Given the description of an element on the screen output the (x, y) to click on. 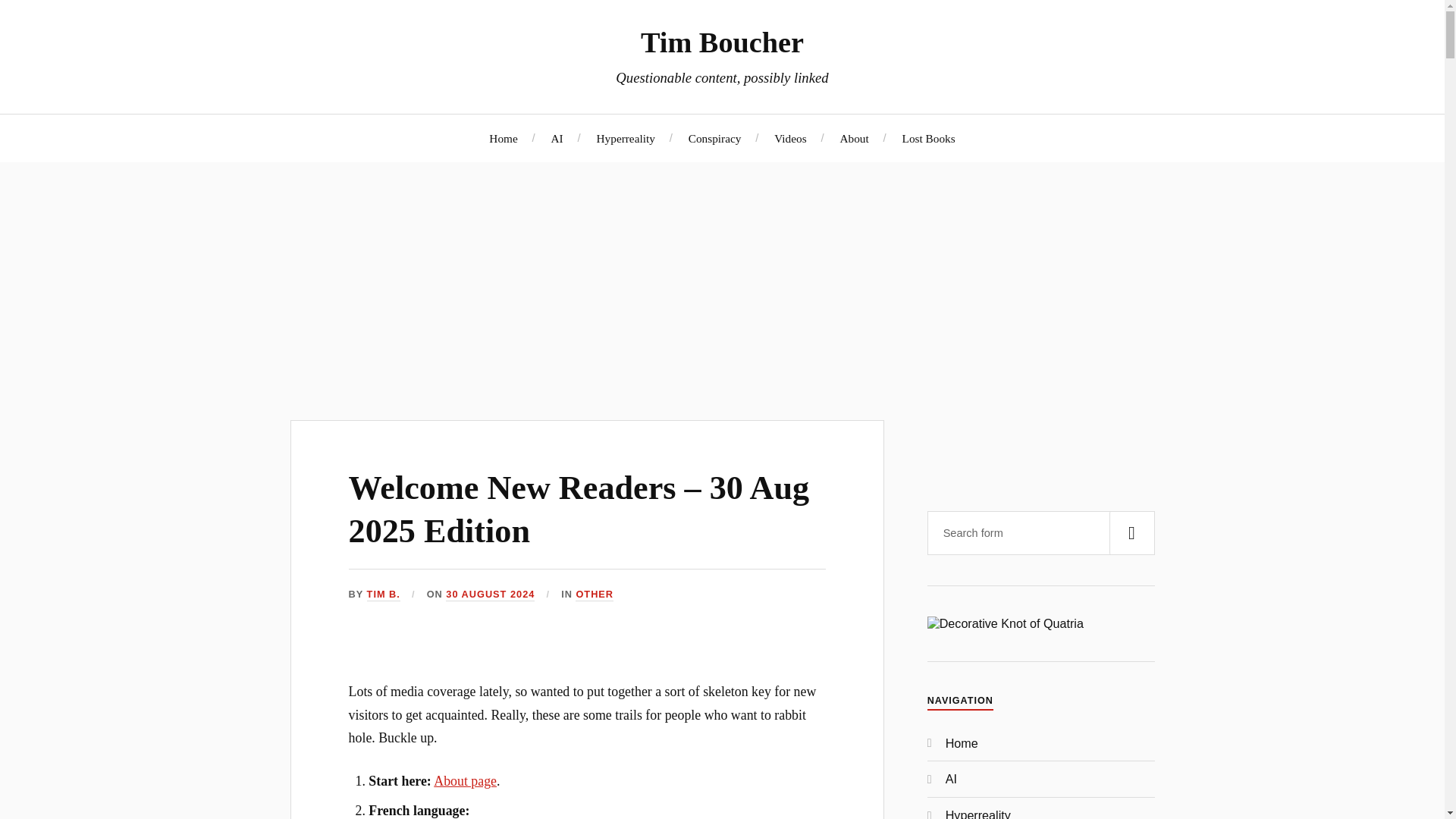
Tim Boucher (721, 42)
Hyperreality (625, 137)
Posts by Tim B. (383, 594)
Lost Books (928, 137)
OTHER (593, 594)
30 AUGUST 2024 (489, 594)
About page (464, 780)
TIM B. (383, 594)
Conspiracy (714, 137)
